Given the description of an element on the screen output the (x, y) to click on. 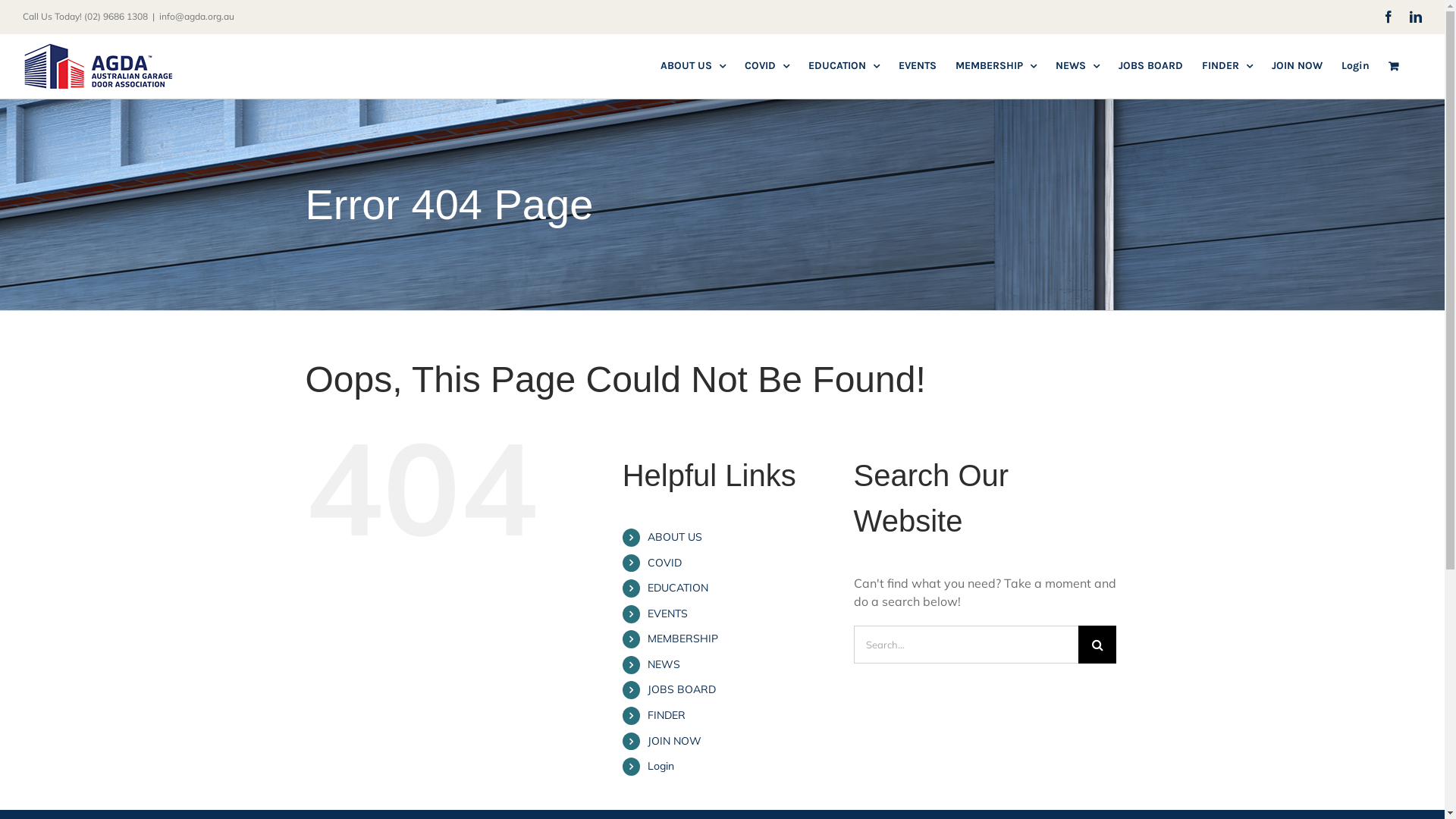
info@agda.org.au Element type: text (196, 15)
MEMBERSHIP Element type: text (995, 65)
Facebook Element type: text (1388, 16)
NEWS Element type: text (663, 664)
FINDER Element type: text (1226, 65)
Login Element type: text (1355, 65)
JOIN NOW Element type: text (674, 740)
EVENTS Element type: text (667, 613)
Activate Account Element type: text (624, 523)
JOBS BOARD Element type: text (681, 689)
JOIN NOW Element type: text (1296, 65)
MEMBERSHIP Element type: text (682, 638)
EDUCATION Element type: text (843, 65)
ABOUT US Element type: text (692, 65)
EDUCATION Element type: text (677, 587)
COVID Element type: text (766, 65)
Login Element type: text (660, 765)
FINDER Element type: text (666, 714)
NEWS Element type: text (1077, 65)
EVENTS Element type: text (917, 65)
LinkedIn Element type: text (1415, 16)
ABOUT US Element type: text (674, 536)
COVID Element type: text (664, 562)
JOBS BOARD Element type: text (1150, 65)
Sign In Element type: text (563, 493)
